Given the description of an element on the screen output the (x, y) to click on. 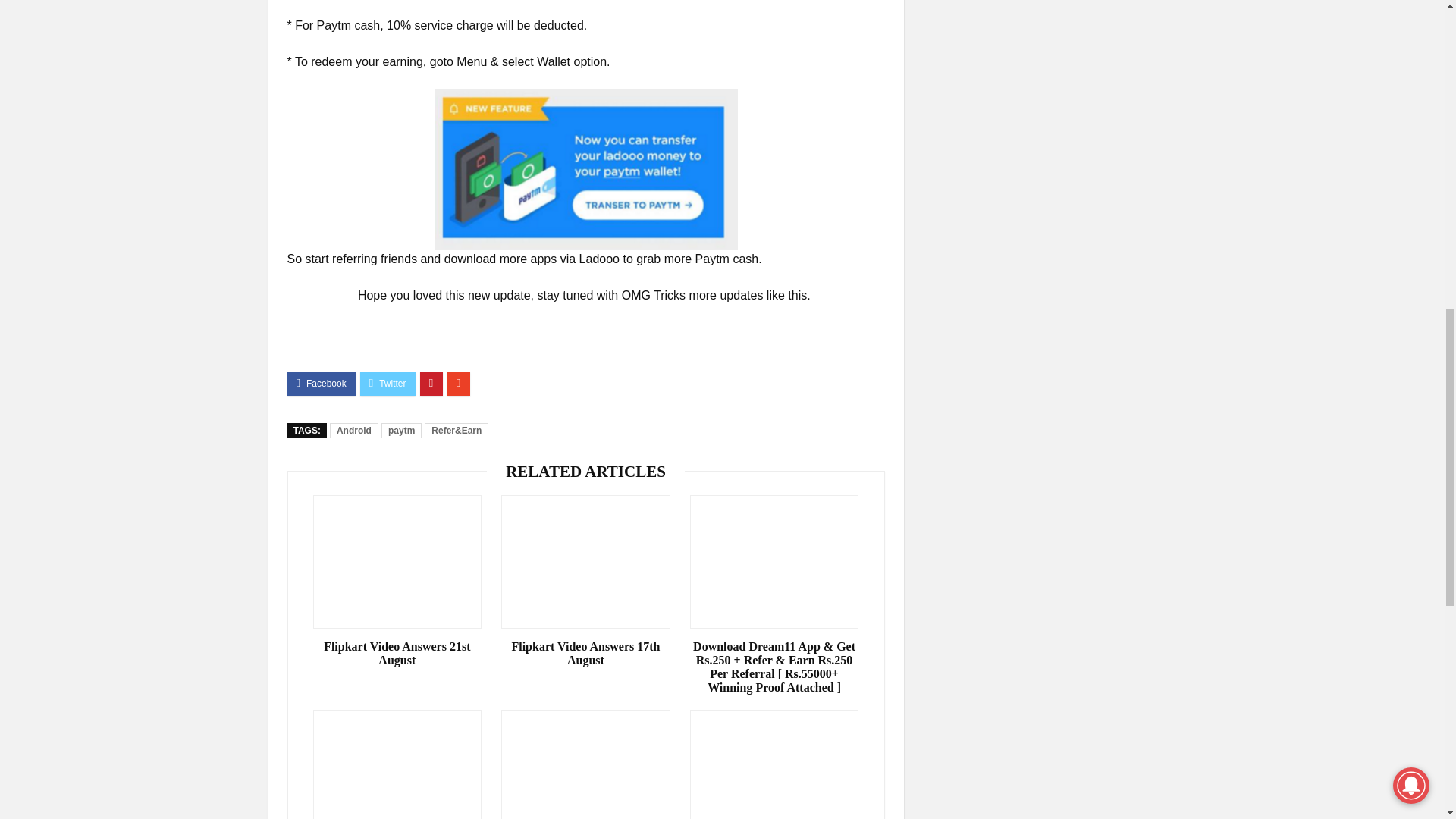
Flipkart Video Answers 21st August (397, 653)
Flipkart Video Answers 17th August (584, 653)
